Given the description of an element on the screen output the (x, y) to click on. 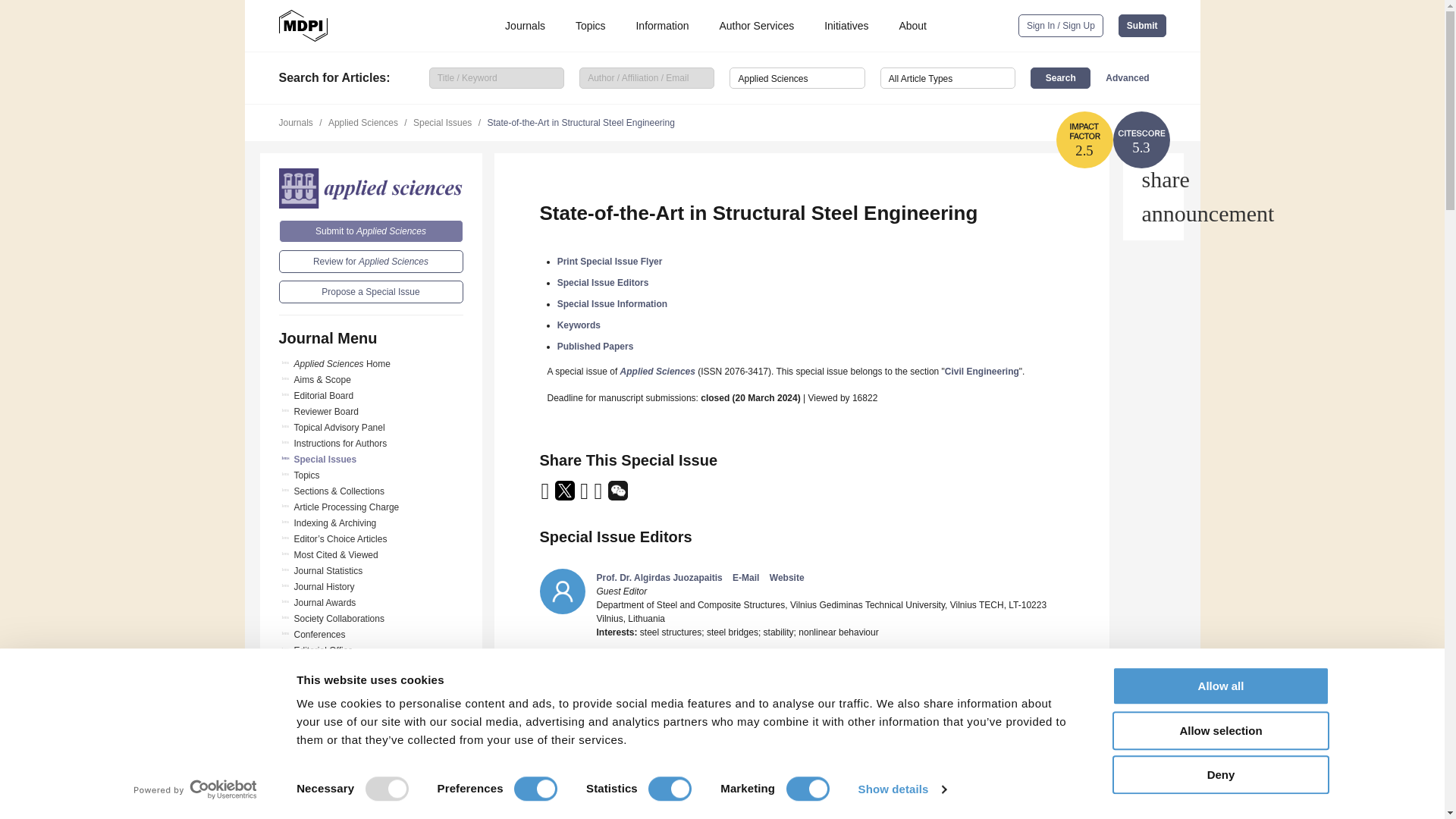
Search (1060, 77)
Go (371, 771)
Search (1060, 77)
Show details (900, 789)
